Given the description of an element on the screen output the (x, y) to click on. 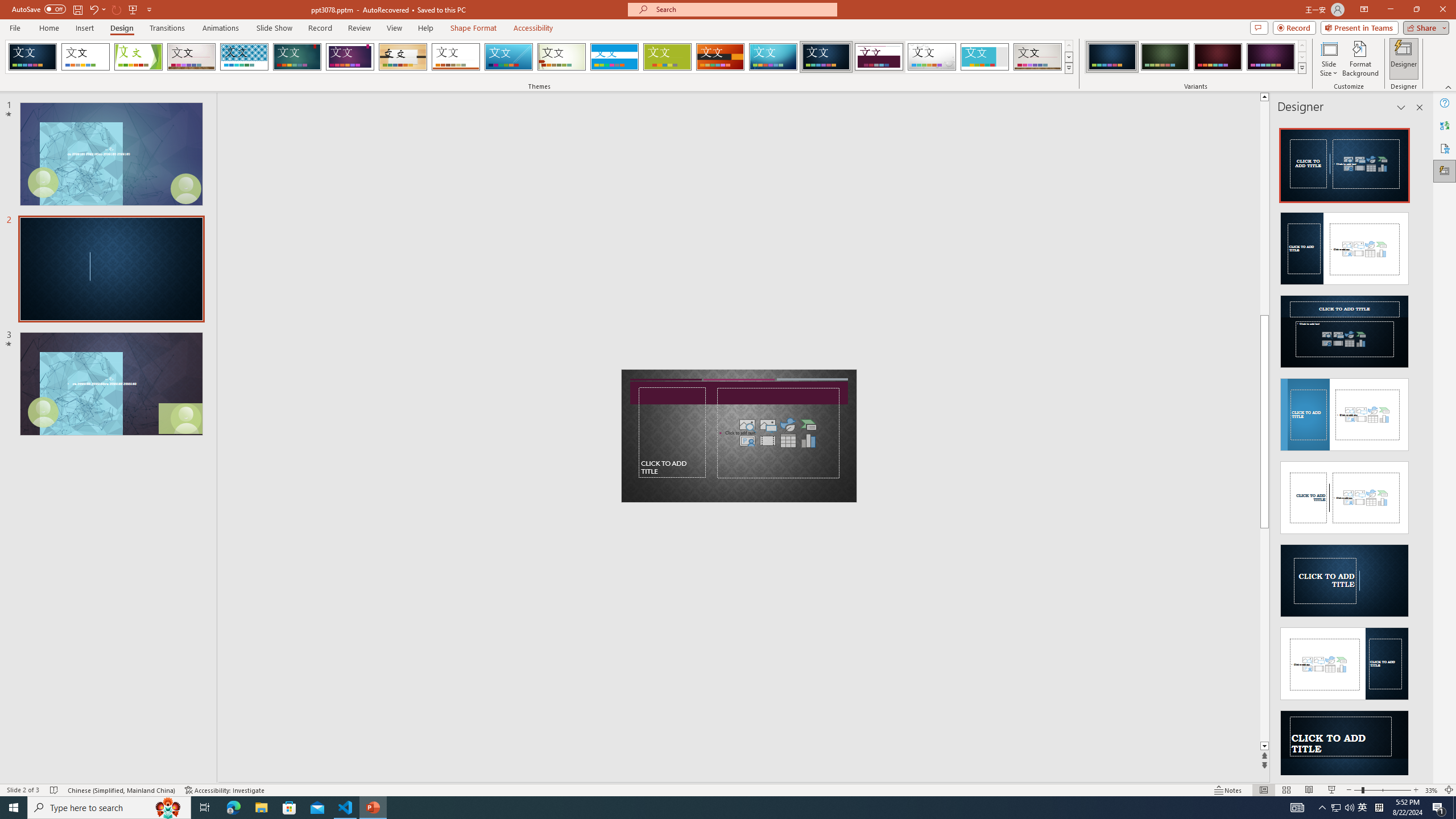
Accessibility (1444, 147)
Decorative Locked (738, 435)
Integral (244, 56)
Translator (1444, 125)
Normal (1263, 790)
Share (1423, 27)
Zoom to Fit  (1449, 790)
AutoSave (38, 9)
Minimize (1390, 9)
Damask Variant 4 (1270, 56)
Row up (1301, 45)
Zoom (1382, 790)
